Given the description of an element on the screen output the (x, y) to click on. 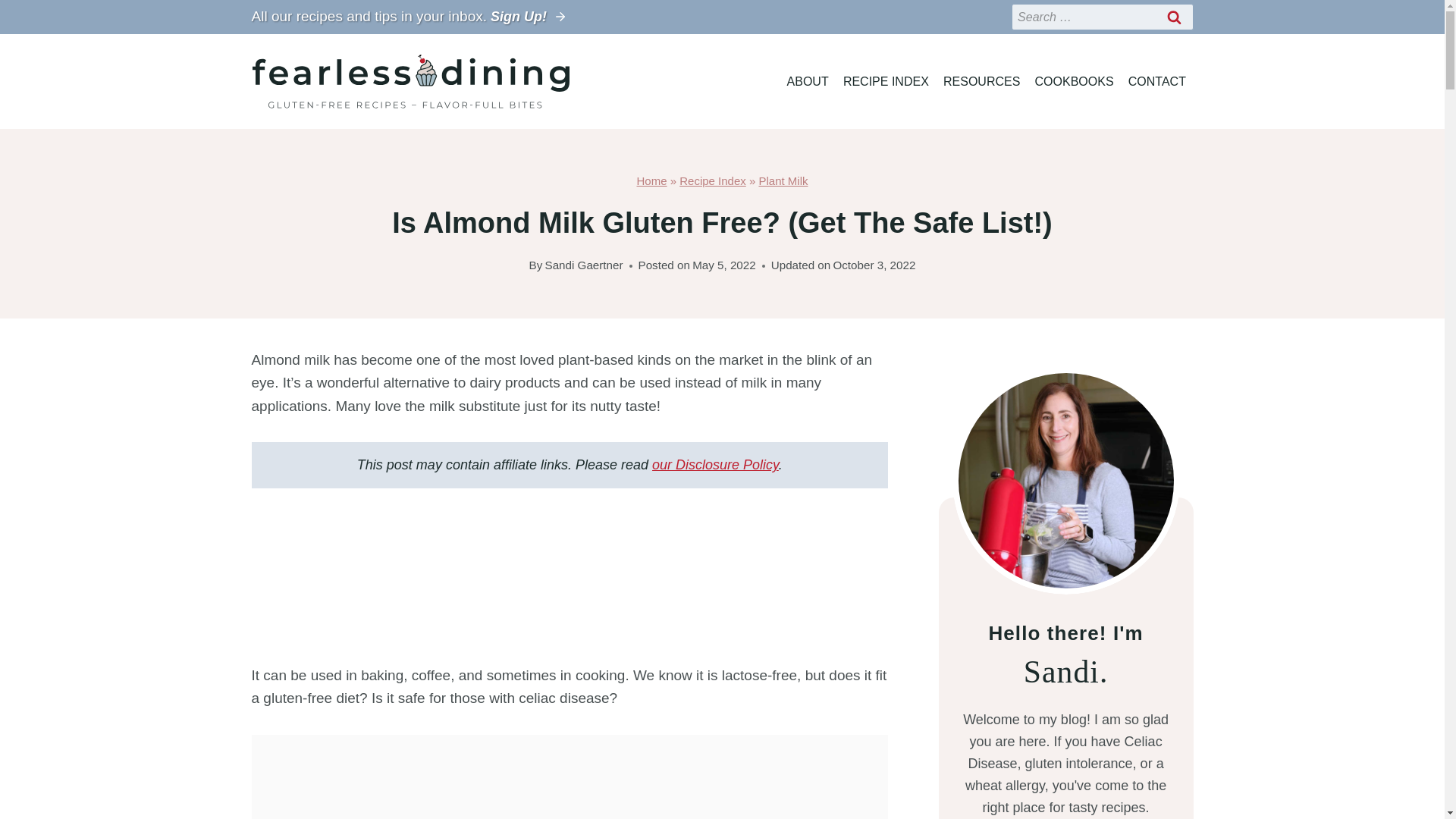
Recipe Index (712, 180)
CONTACT (1156, 81)
RESOURCES (981, 81)
COOKBOOKS (1074, 81)
Search (1174, 16)
Sandi Gaertner (583, 264)
Plant Milk (783, 180)
ABOUT (806, 81)
Search (1174, 16)
RECIPE INDEX (885, 81)
